Given the description of an element on the screen output the (x, y) to click on. 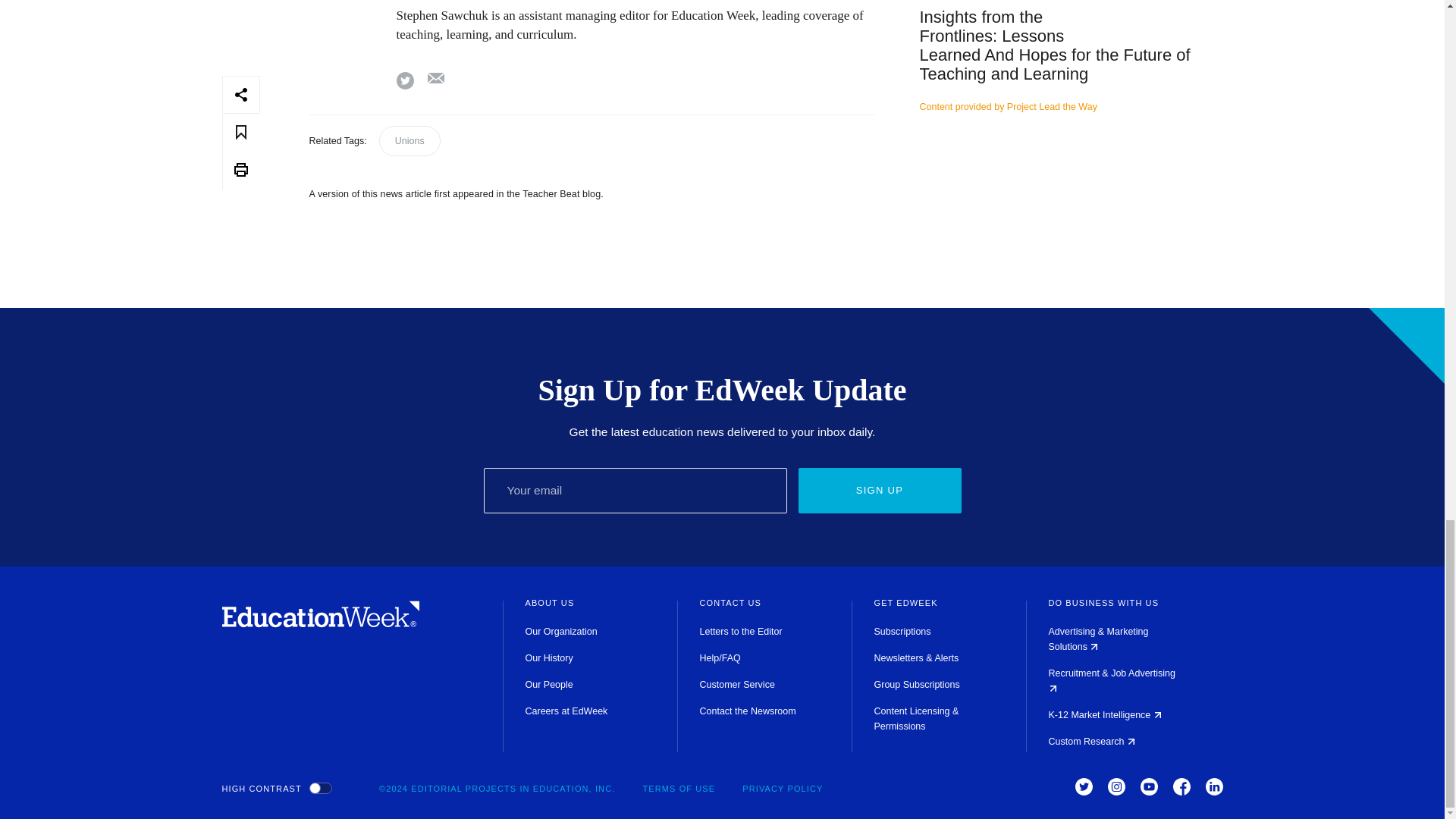
Homepage (320, 623)
